Given the description of an element on the screen output the (x, y) to click on. 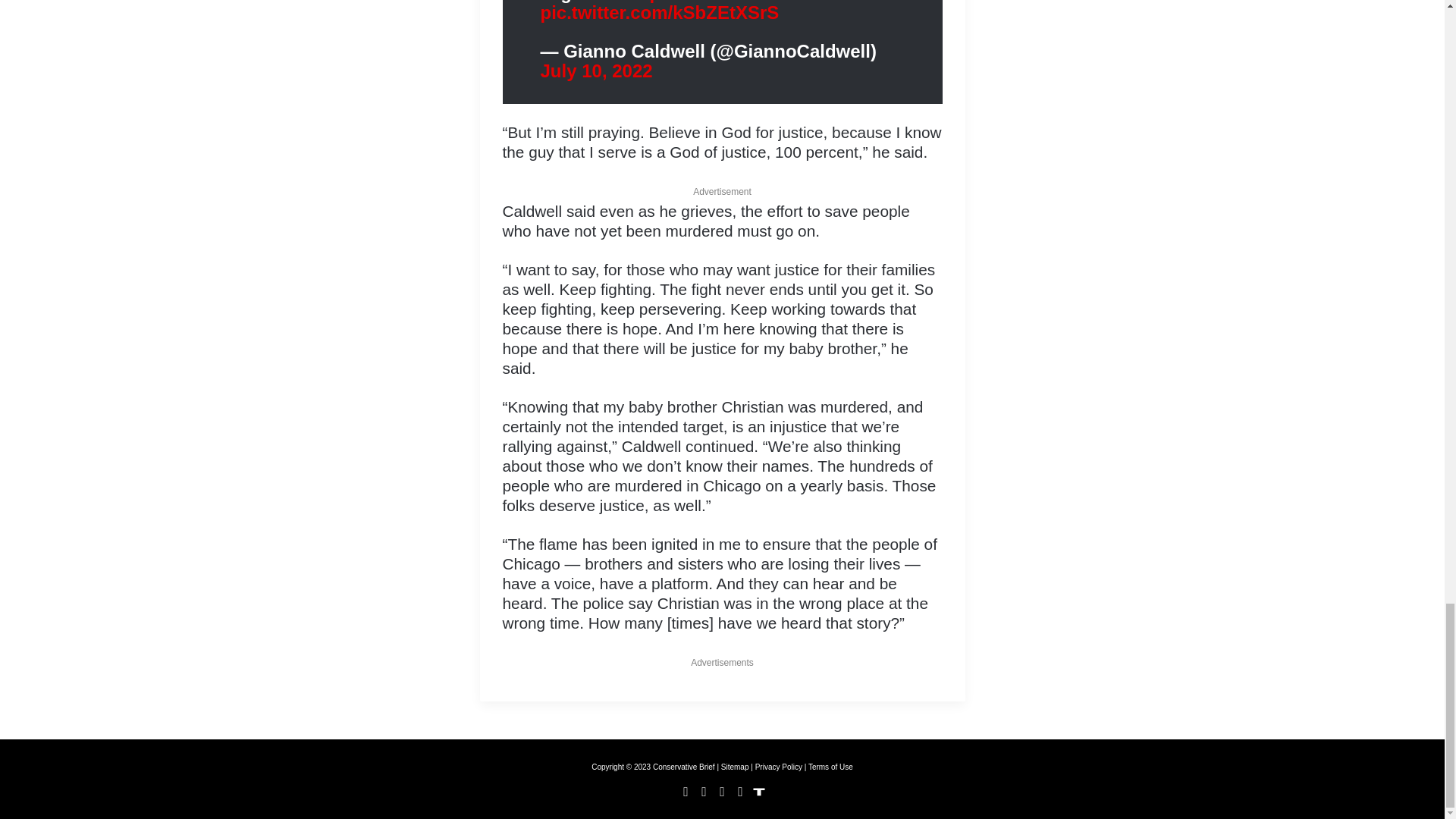
Telegram (739, 791)
Truth Social (758, 791)
X (703, 791)
Sitemap (734, 766)
Facebook (685, 791)
Conservative Brief (683, 766)
Privacy Policy (778, 766)
July 10, 2022 (596, 70)
Terms of Use (830, 766)
YouTube (721, 791)
